Given the description of an element on the screen output the (x, y) to click on. 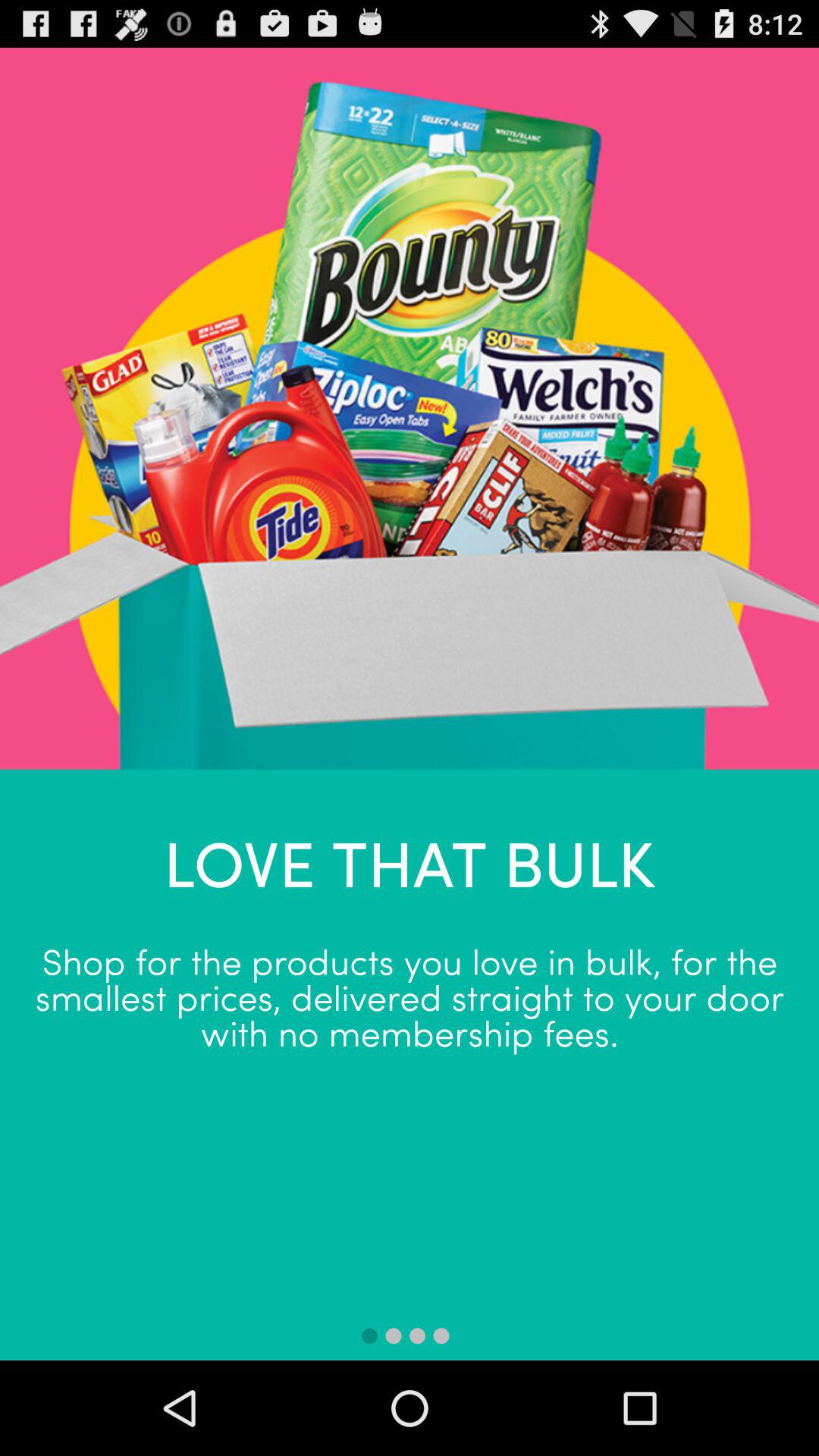
turn off the shop for the app (409, 995)
